Given the description of an element on the screen output the (x, y) to click on. 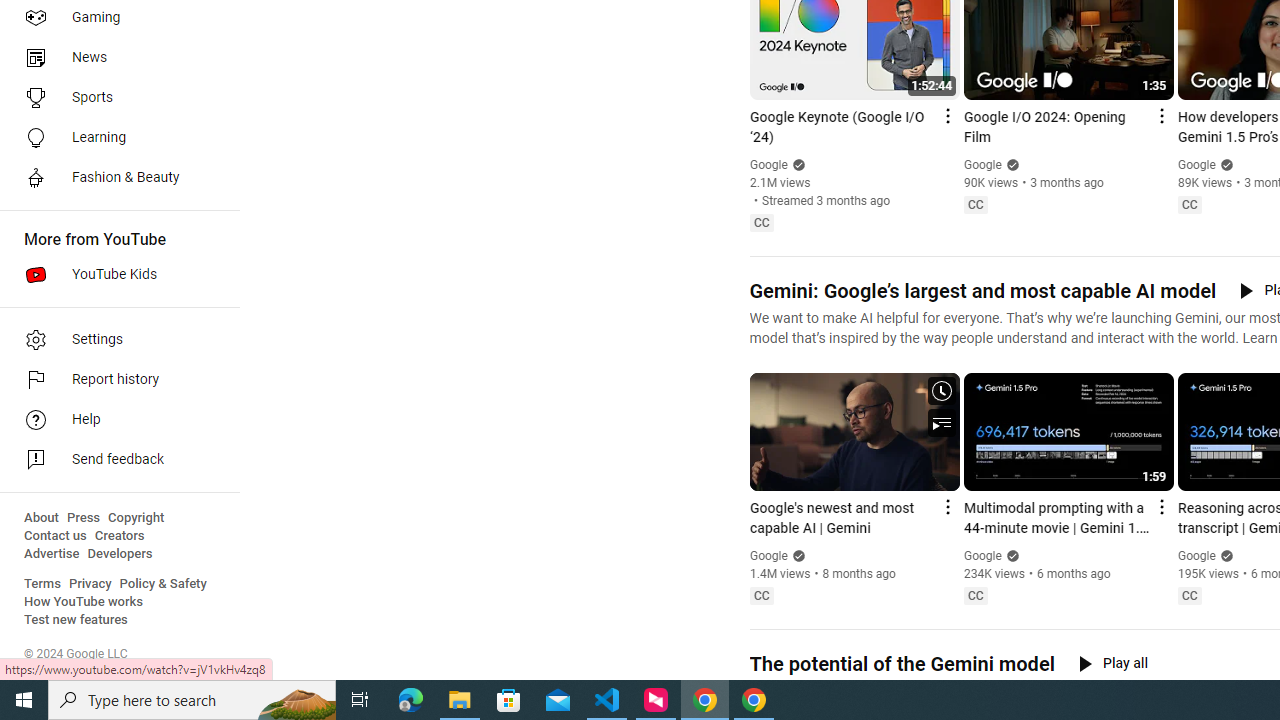
The potential of the Gemini model (901, 664)
Test new features (76, 620)
Fashion & Beauty (113, 177)
Closed captions (1189, 595)
Play all (1113, 663)
About (41, 518)
YouTube Kids (113, 274)
Sports (113, 97)
Send feedback (113, 459)
Contact us (55, 536)
Developers (120, 554)
How YouTube works (83, 602)
